Given the description of an element on the screen output the (x, y) to click on. 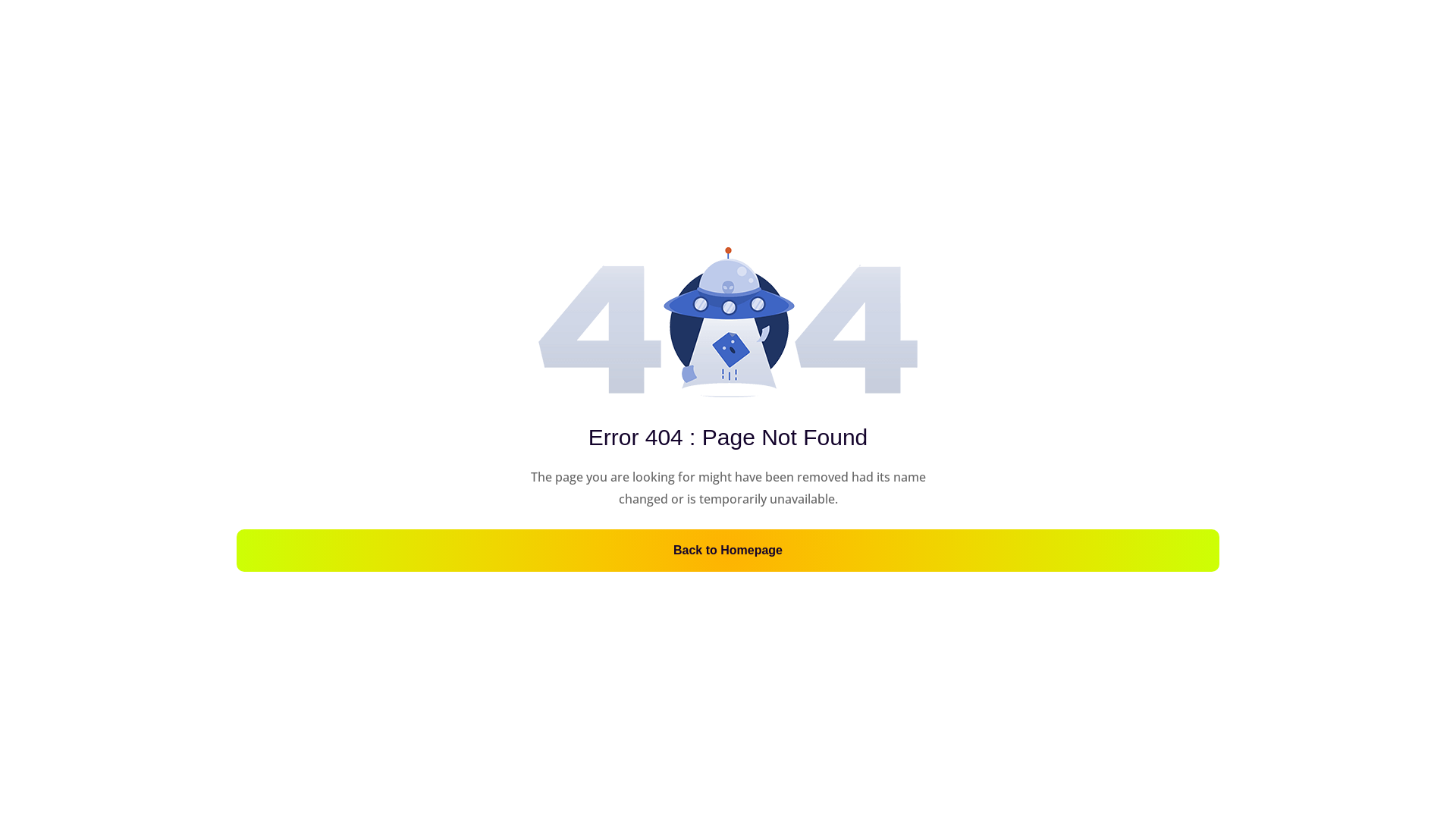
Back to Homepage Element type: text (727, 550)
